Given the description of an element on the screen output the (x, y) to click on. 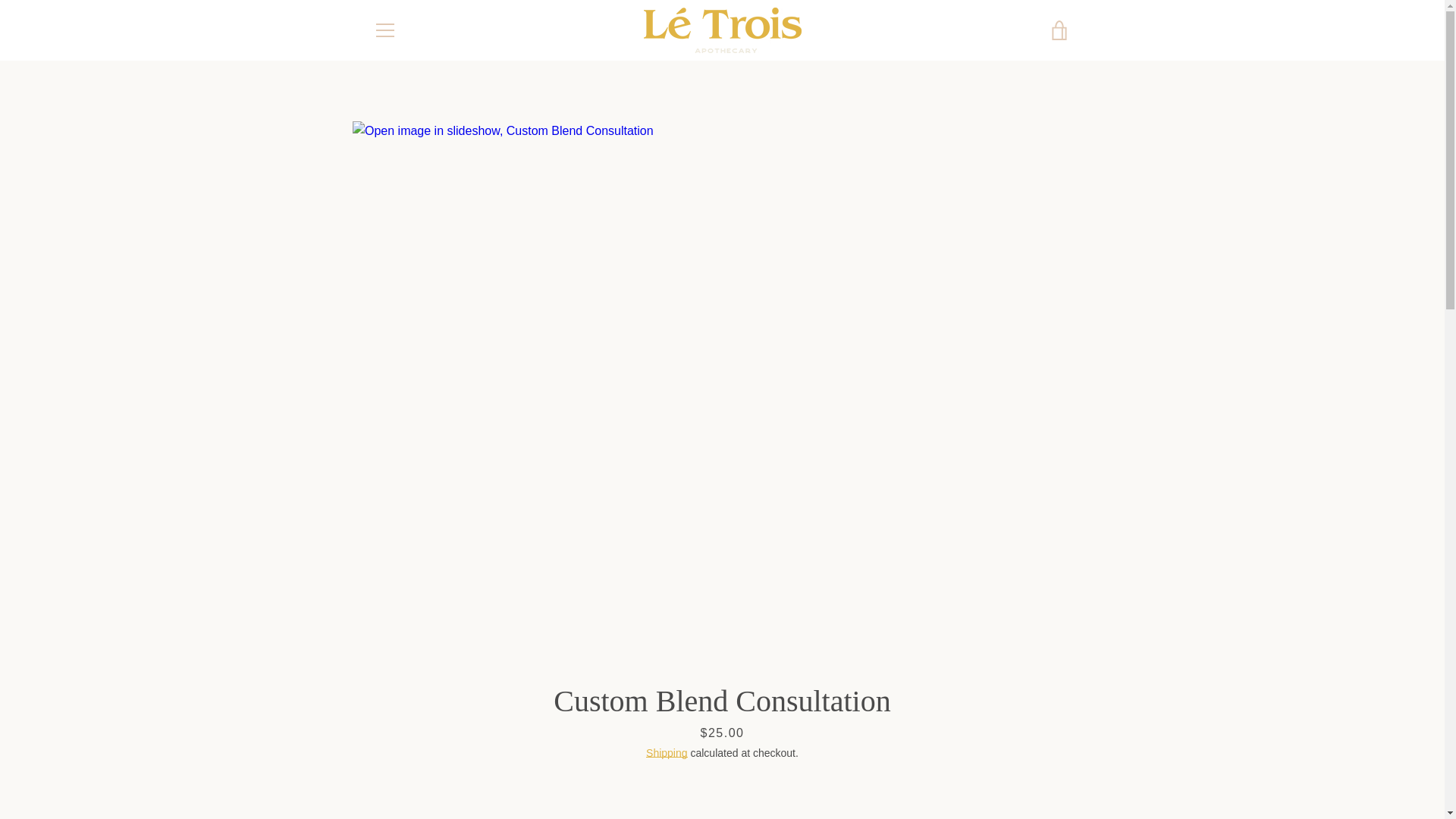
Shipping (666, 752)
VIEW CART (1059, 30)
MENU (384, 30)
